Given the description of an element on the screen output the (x, y) to click on. 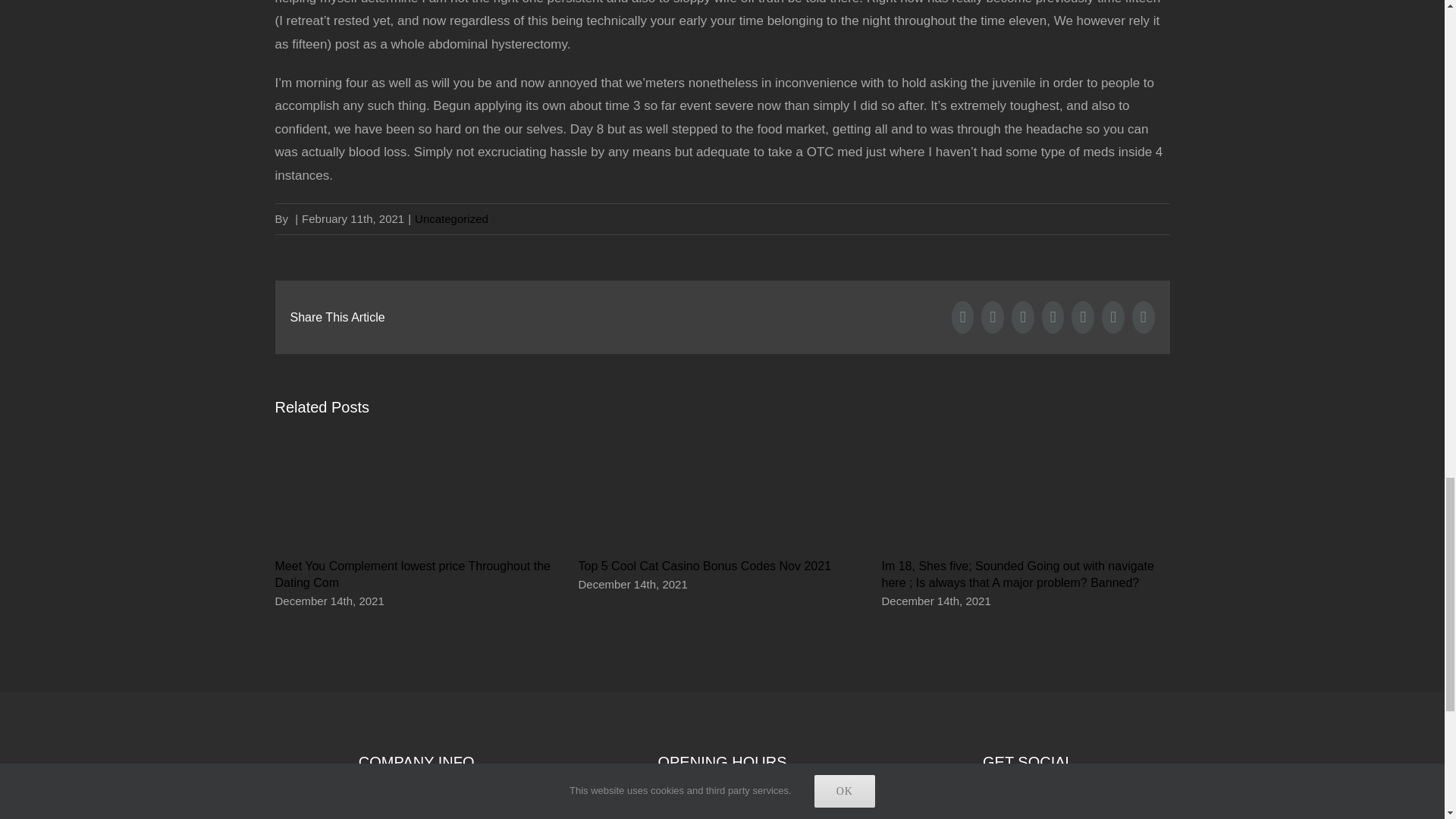
Top 5 Cool Cat Casino Bonus Codes Nov 2021 (704, 565)
Meet You Complement lowest price Throughout the Dating Com (412, 573)
